Given the description of an element on the screen output the (x, y) to click on. 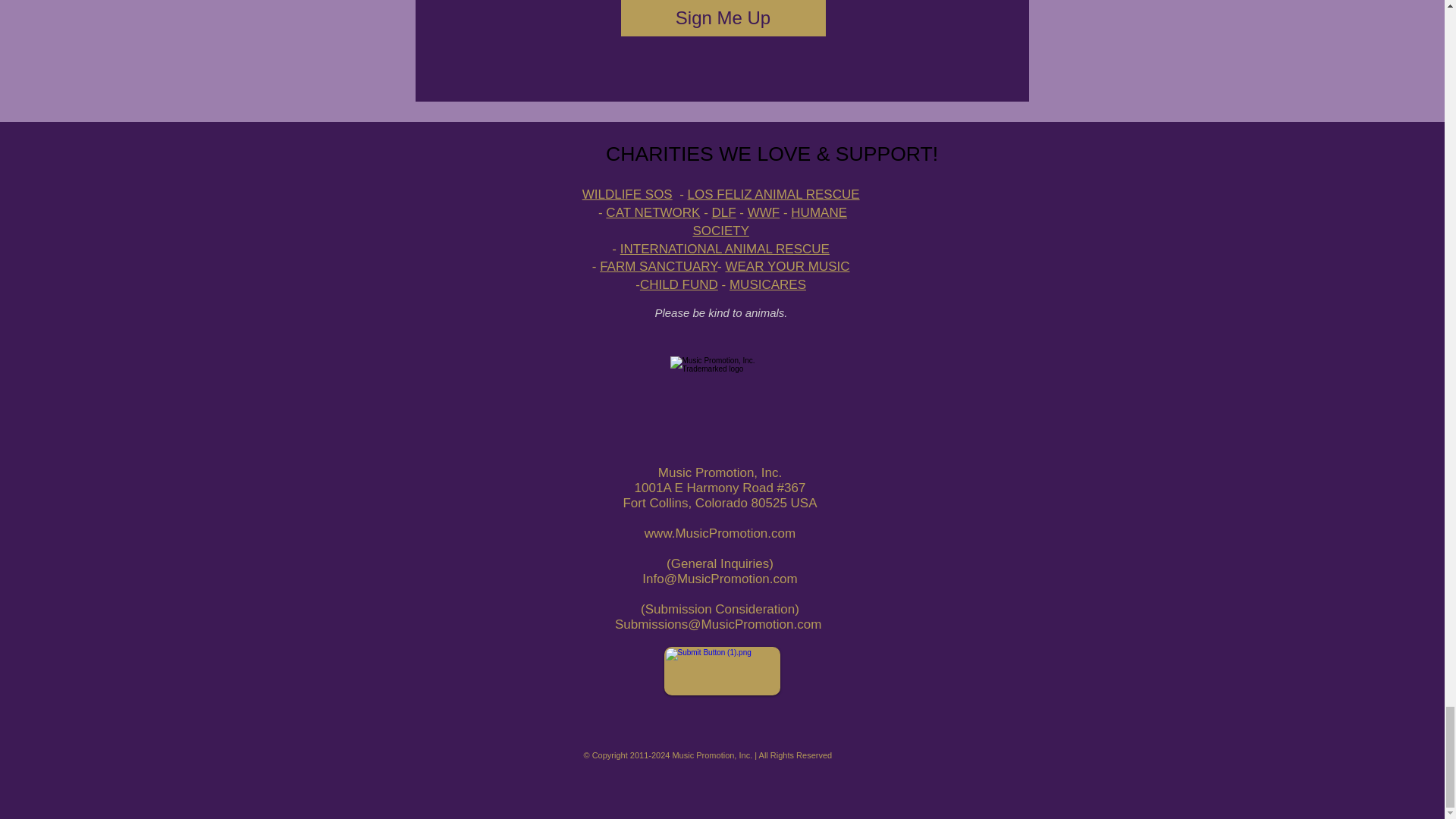
Sign Me Up (722, 18)
FARM SANCTUARY (658, 266)
CAT NETWORK (652, 212)
DLF (723, 212)
HUMANE SOCIETY (770, 221)
WWF (763, 212)
WILDLIFE SOS (627, 194)
Music Promotion Inc Logo Verticle with t (721, 408)
LOS FELIZ ANIMAL RESCUE (773, 194)
INTERNATIONAL ANIMAL RESCUE (724, 248)
